Given the description of an element on the screen output the (x, y) to click on. 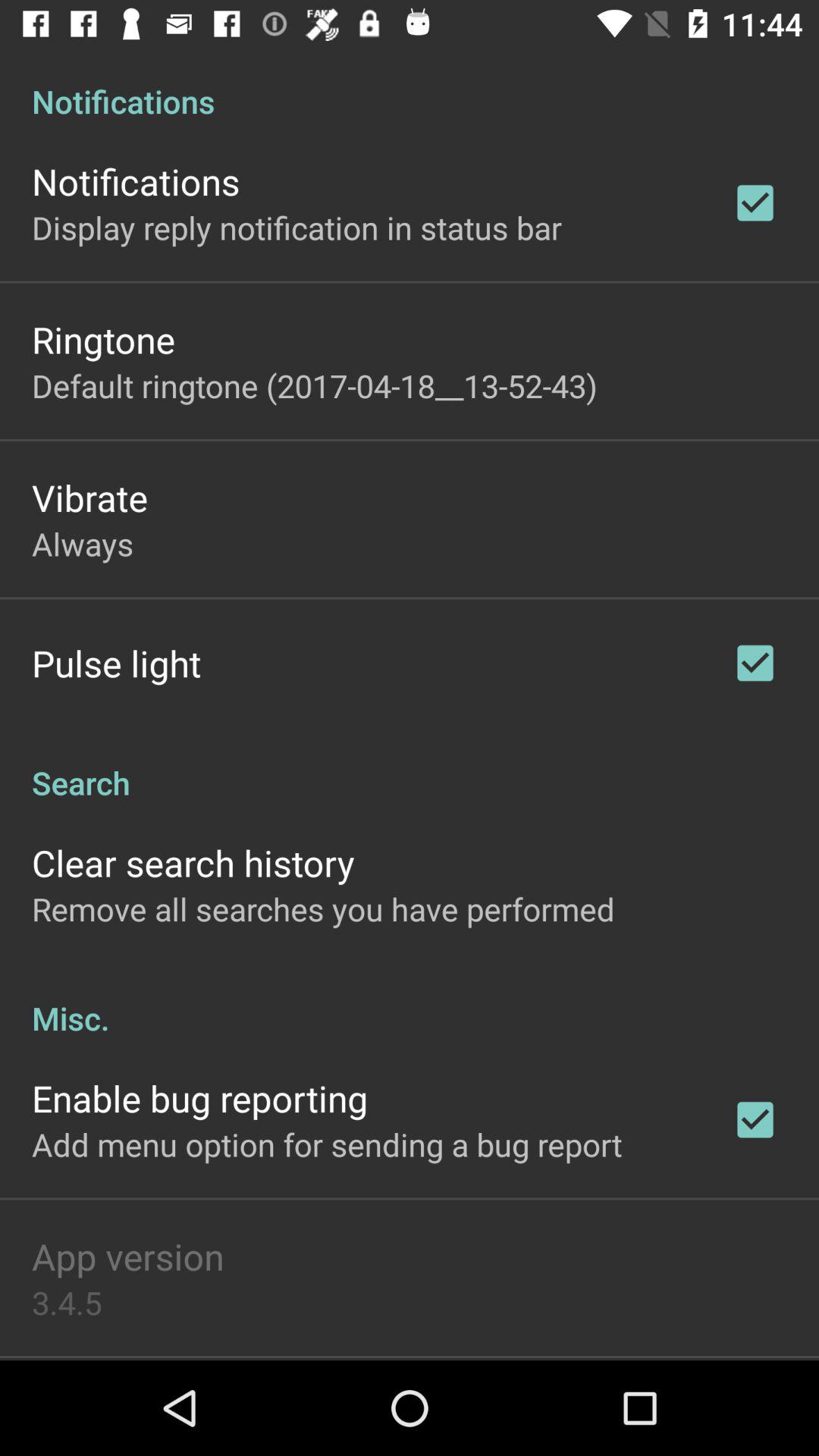
tap item below the add menu option (127, 1255)
